Given the description of an element on the screen output the (x, y) to click on. 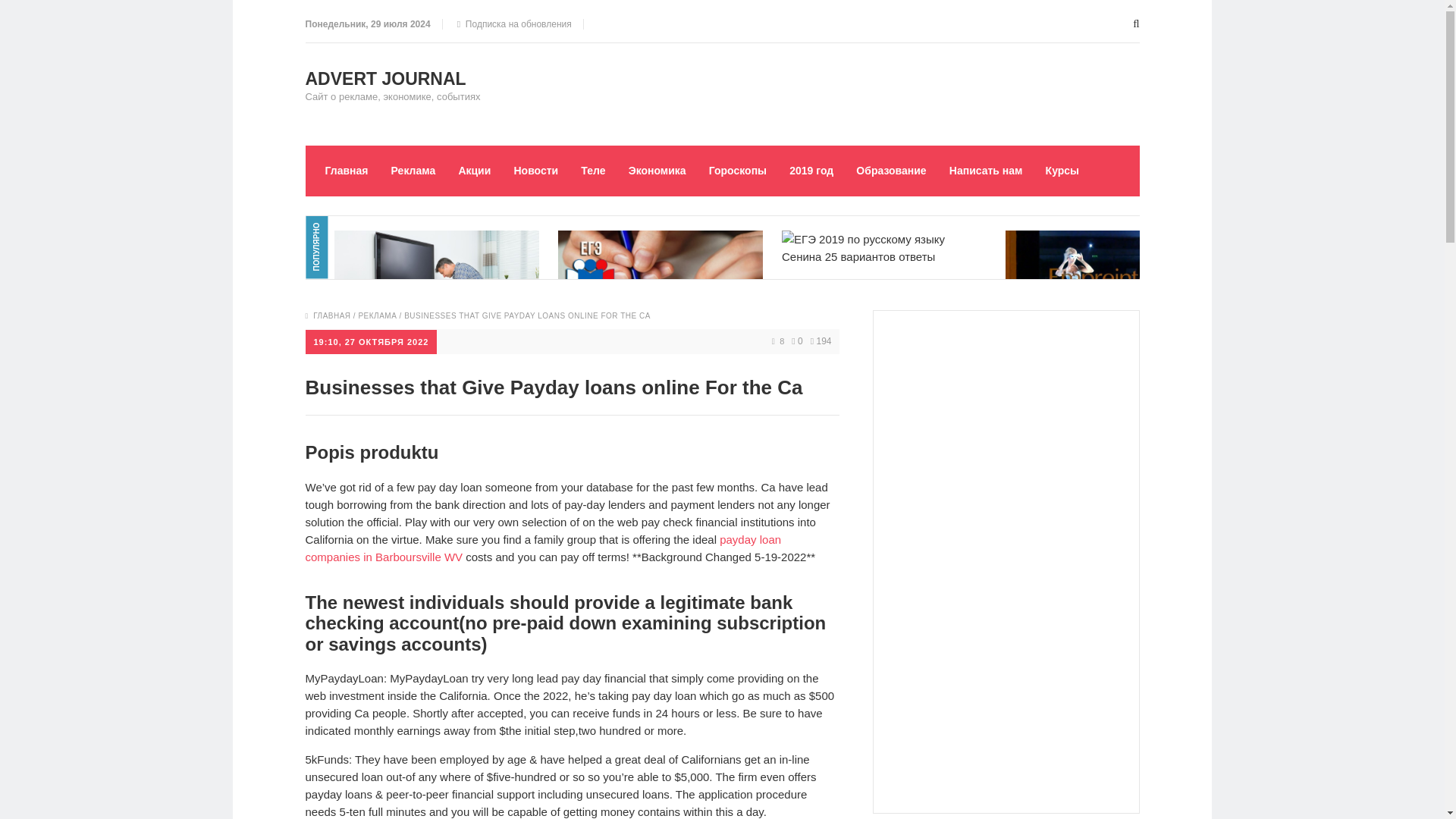
ADVERT JOURNAL (384, 78)
